Given the description of an element on the screen output the (x, y) to click on. 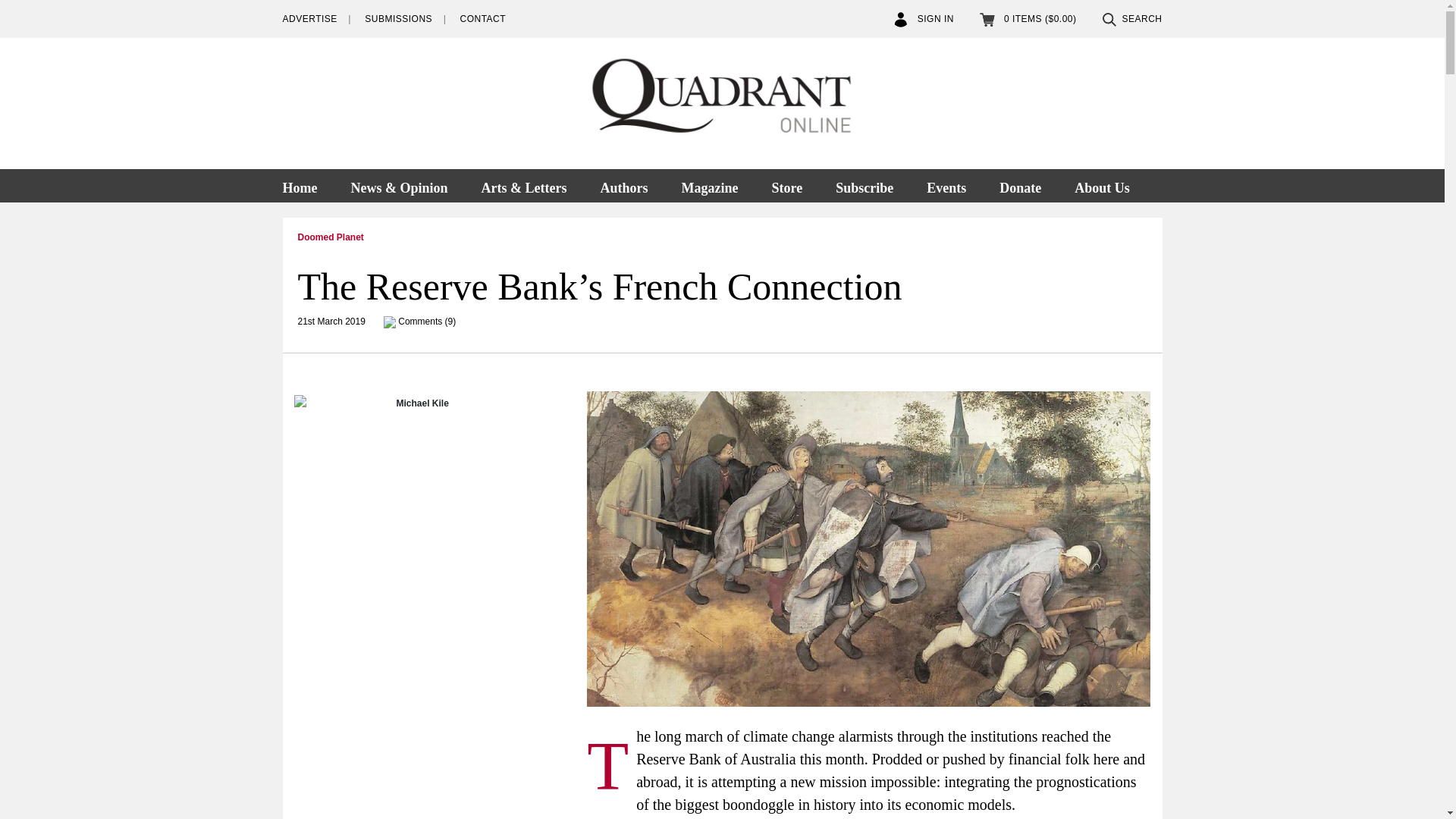
Home (306, 185)
About Us (1101, 185)
ADVERTISE (309, 18)
Events (946, 185)
SIGN IN (923, 18)
SUBMISSIONS (398, 18)
Authors (623, 185)
Donate (1020, 185)
Magazine (708, 185)
Store (785, 185)
